Given the description of an element on the screen output the (x, y) to click on. 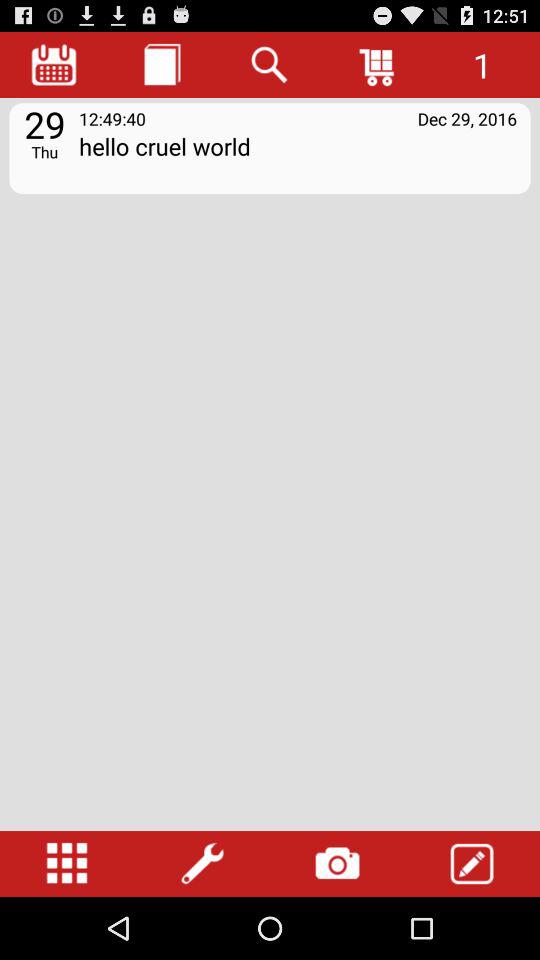
change calender display (53, 64)
